Given the description of an element on the screen output the (x, y) to click on. 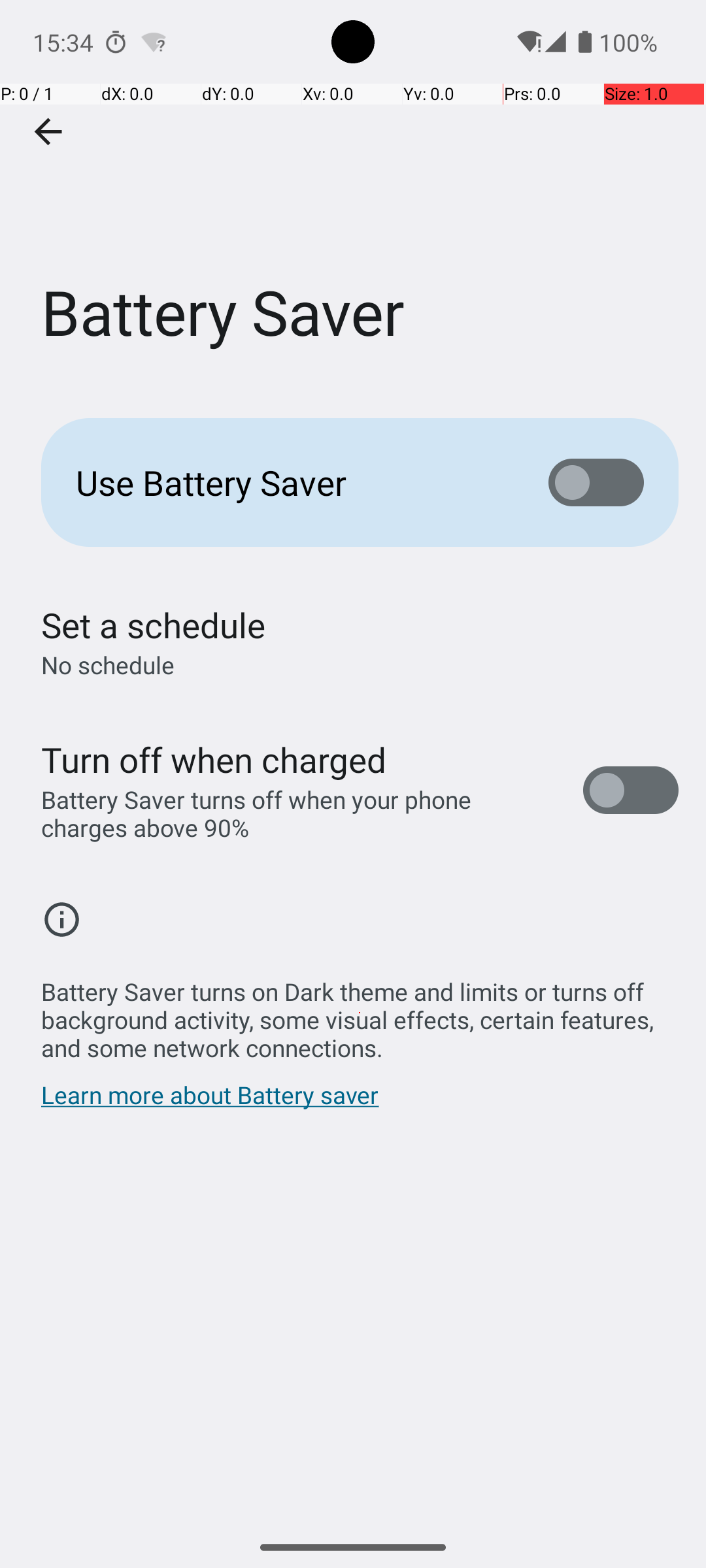
Battery Saver Element type: android.widget.FrameLayout (353, 195)
Use Battery Saver Element type: android.widget.TextView (291, 482)
Set a schedule Element type: android.widget.TextView (153, 624)
No schedule Element type: android.widget.TextView (107, 664)
Turn off when charged Element type: android.widget.TextView (213, 759)
Battery Saver turns off when your phone charges above 90% Element type: android.widget.TextView (298, 813)
Battery Saver turns on Dark theme and limits or turns off background activity, some visual effects, certain features, and some network connections. Element type: android.widget.TextView (359, 1012)
Learn more about Battery saver Element type: android.widget.TextView (210, 1101)
